Given the description of an element on the screen output the (x, y) to click on. 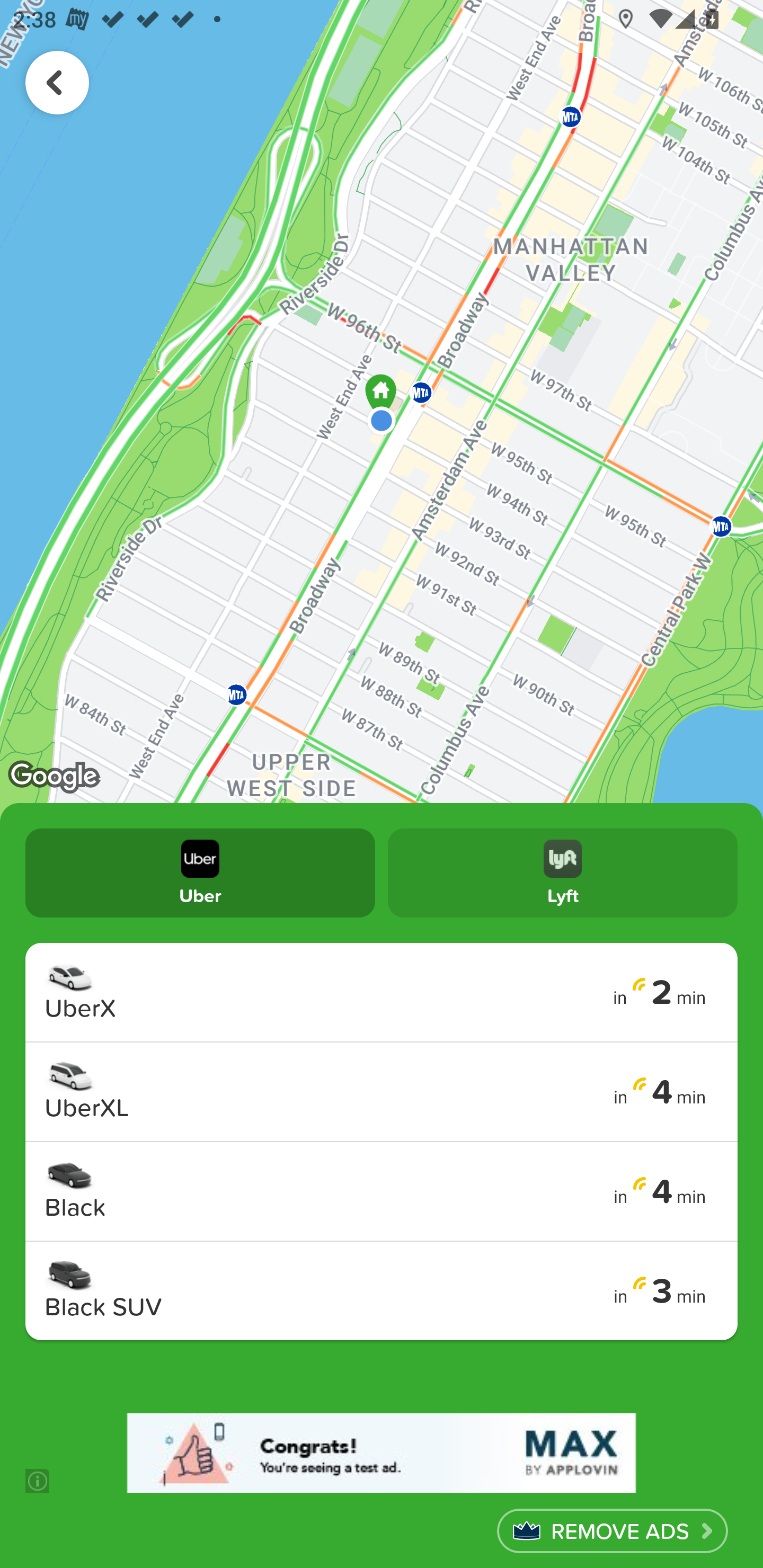
Lyft (562, 872)
